Given the description of an element on the screen output the (x, y) to click on. 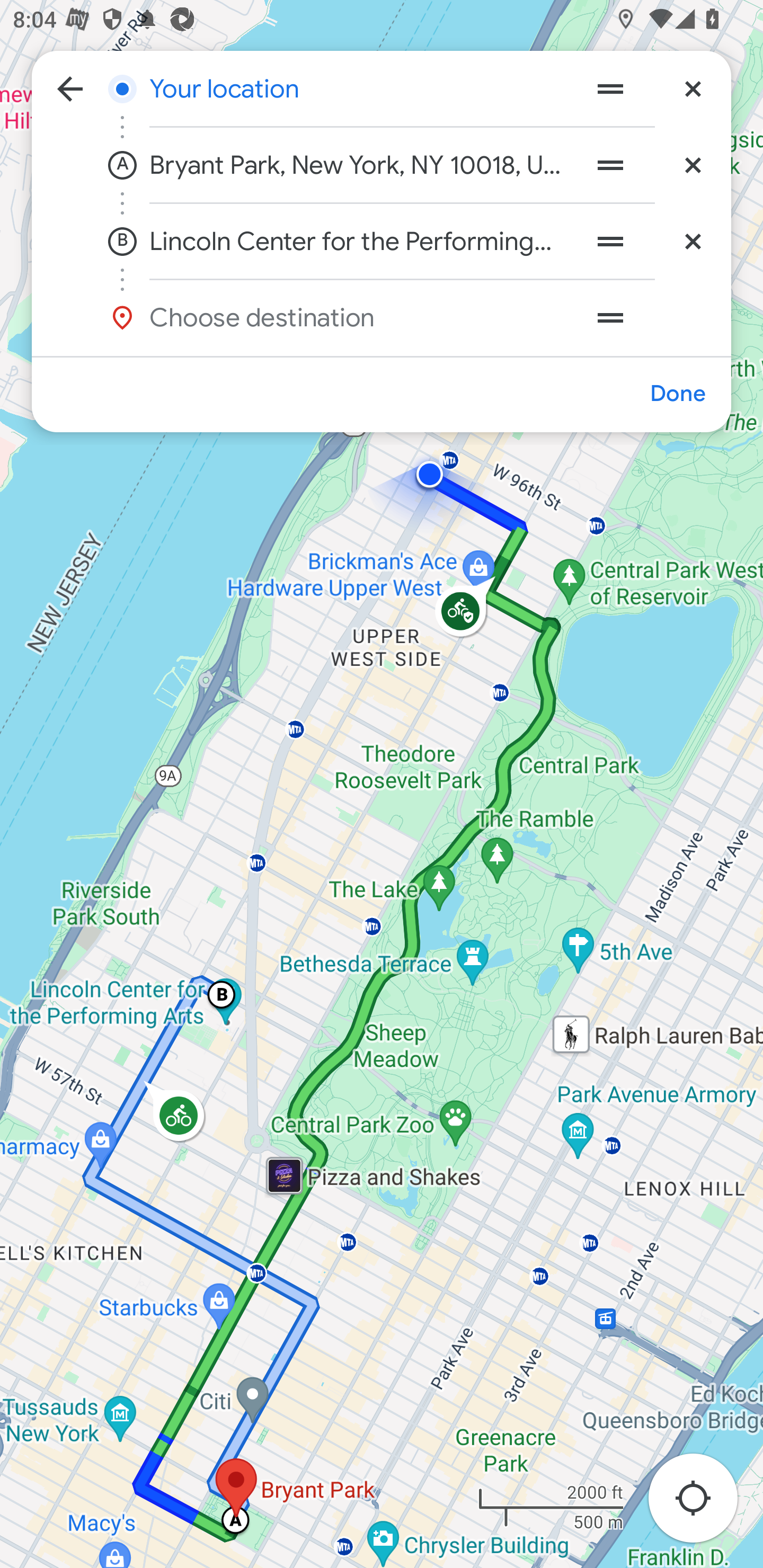
Navigate up (70, 88)
Drag waypoint Your location (610, 88)
Remove waypoint Your location (692, 88)
Drag waypoint Choose destination (648, 317)
Done (676, 393)
Re-center map to your location (702, 1503)
